Given the description of an element on the screen output the (x, y) to click on. 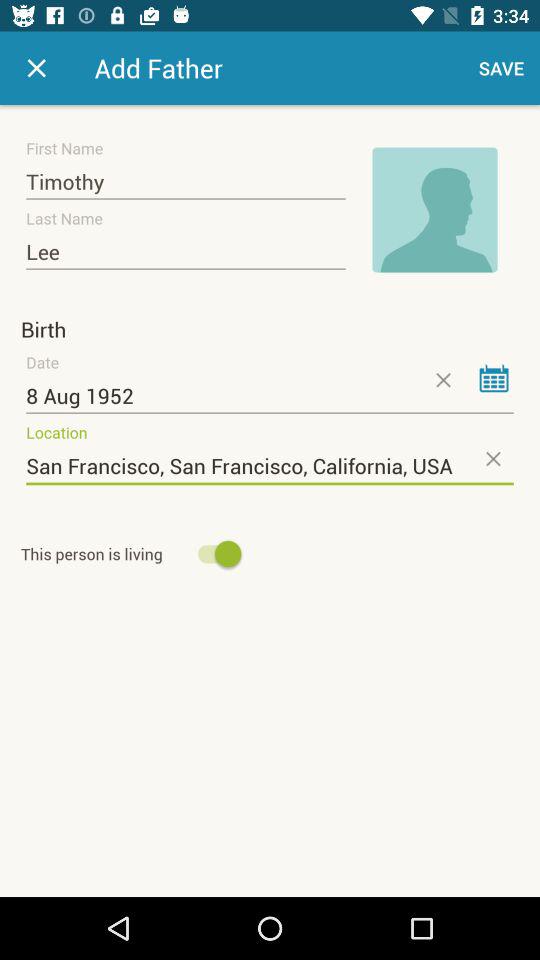
jump to the timothy icon (185, 182)
